Given the description of an element on the screen output the (x, y) to click on. 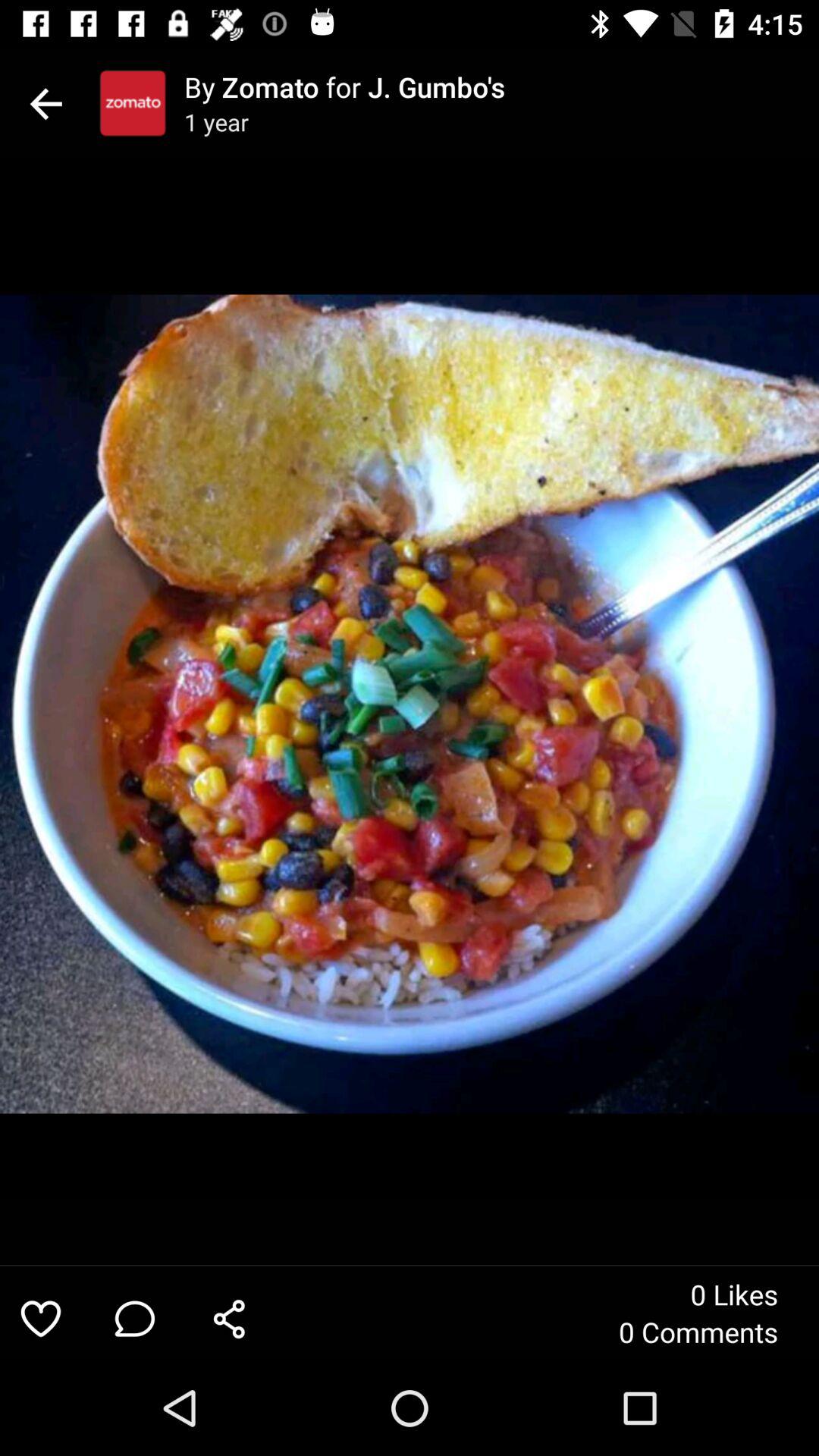
press the by zomato for (501, 86)
